Given the description of an element on the screen output the (x, y) to click on. 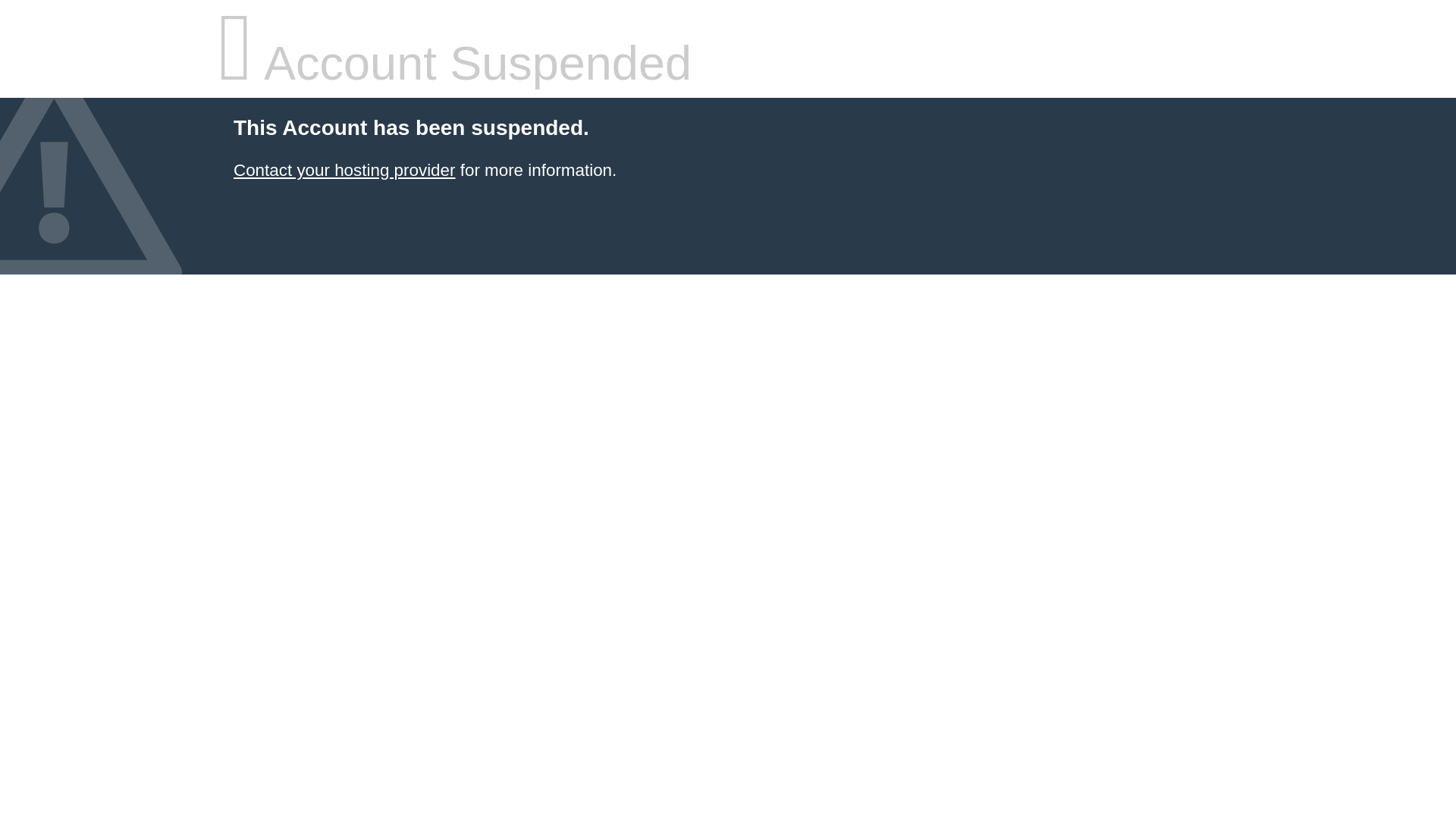
Contact your hosting provider (343, 169)
